Given the description of an element on the screen output the (x, y) to click on. 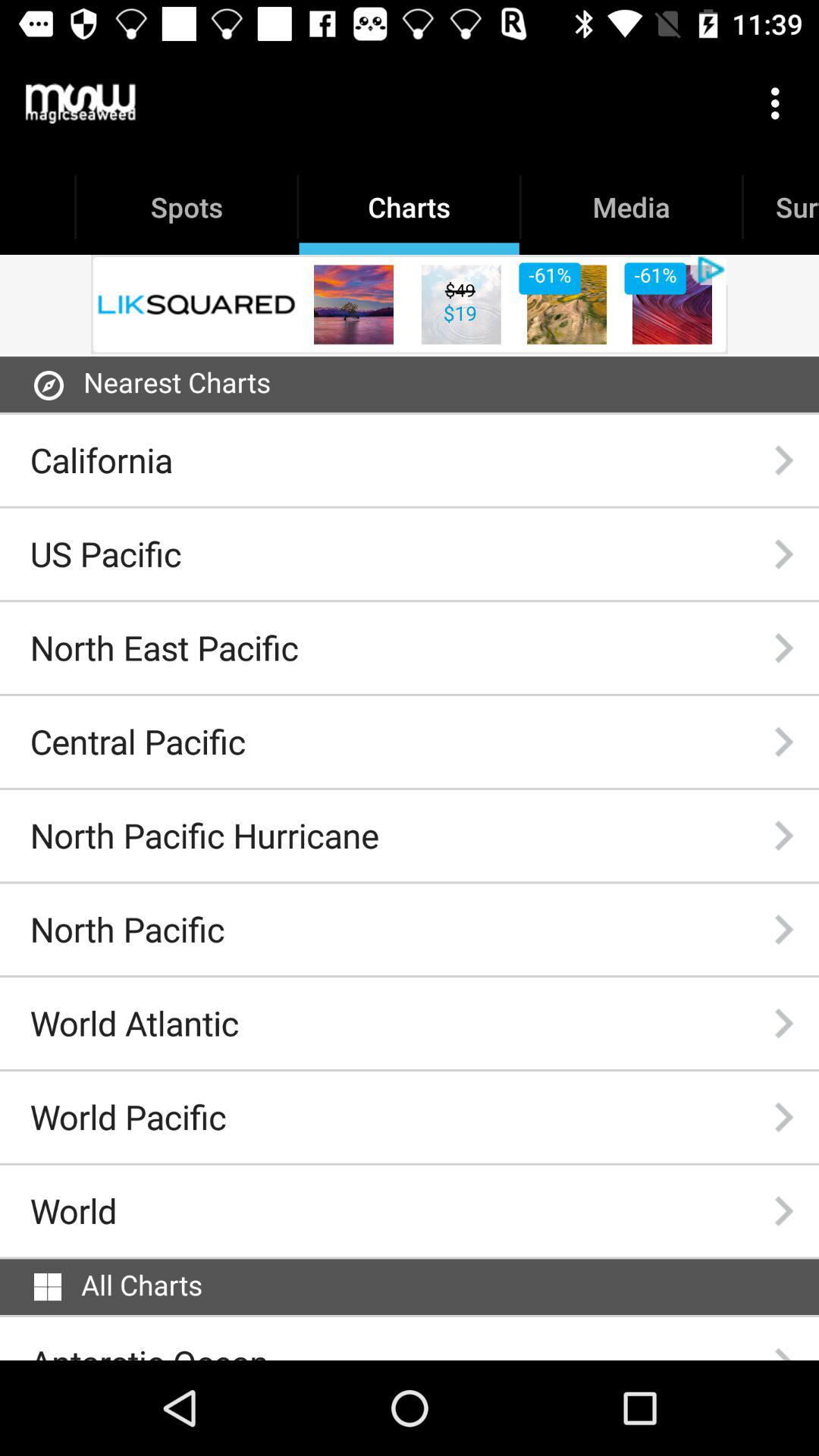
swipe until the california item (101, 459)
